Given the description of an element on the screen output the (x, y) to click on. 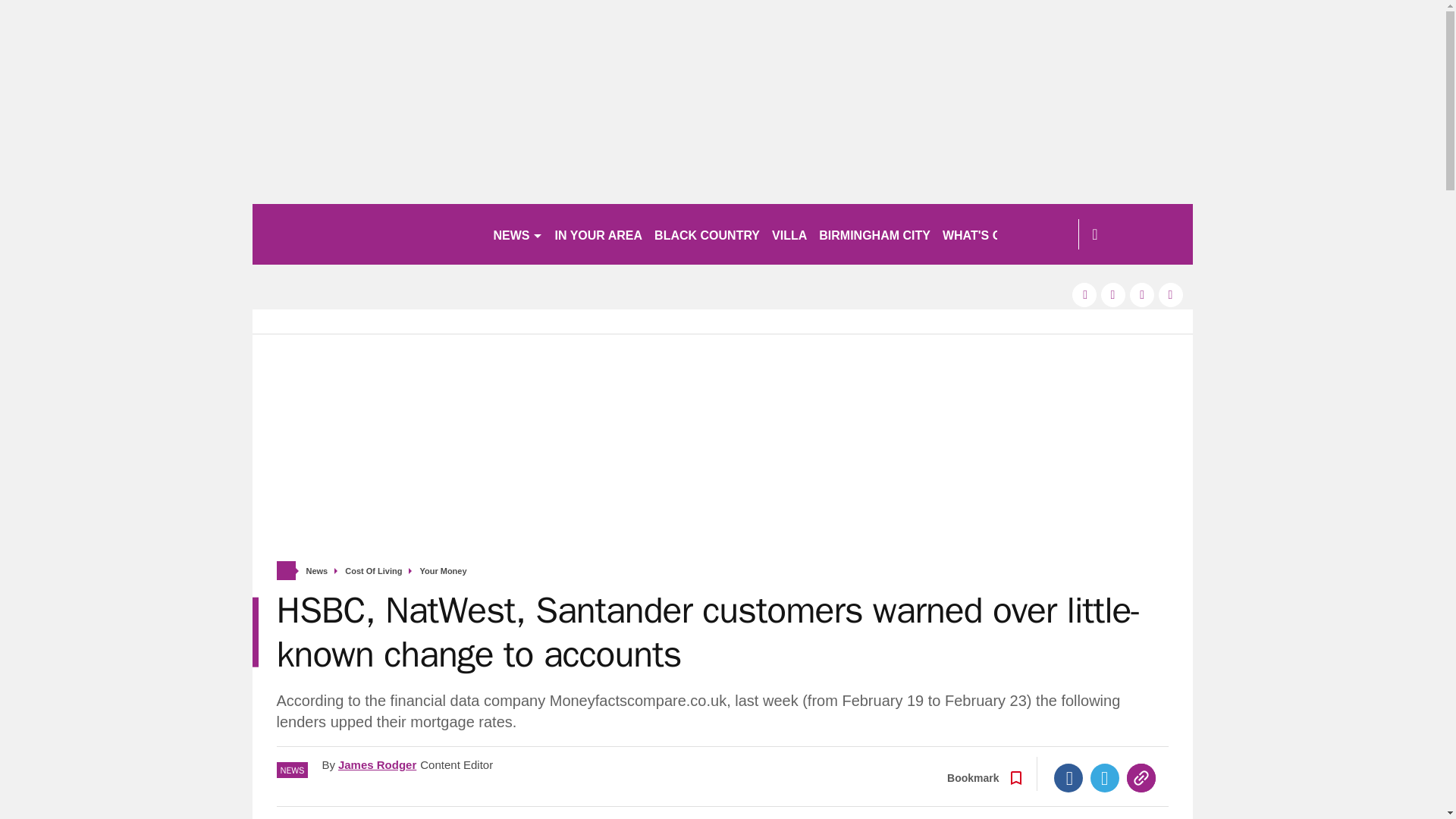
Facebook (1068, 777)
Twitter (1104, 777)
twitter (1112, 294)
birminghammail (365, 233)
NEWS (517, 233)
VILLA (788, 233)
BLACK COUNTRY (706, 233)
tiktok (1141, 294)
WHAT'S ON (982, 233)
BIRMINGHAM CITY (874, 233)
IN YOUR AREA (598, 233)
facebook (1083, 294)
instagram (1170, 294)
